Given the description of an element on the screen output the (x, y) to click on. 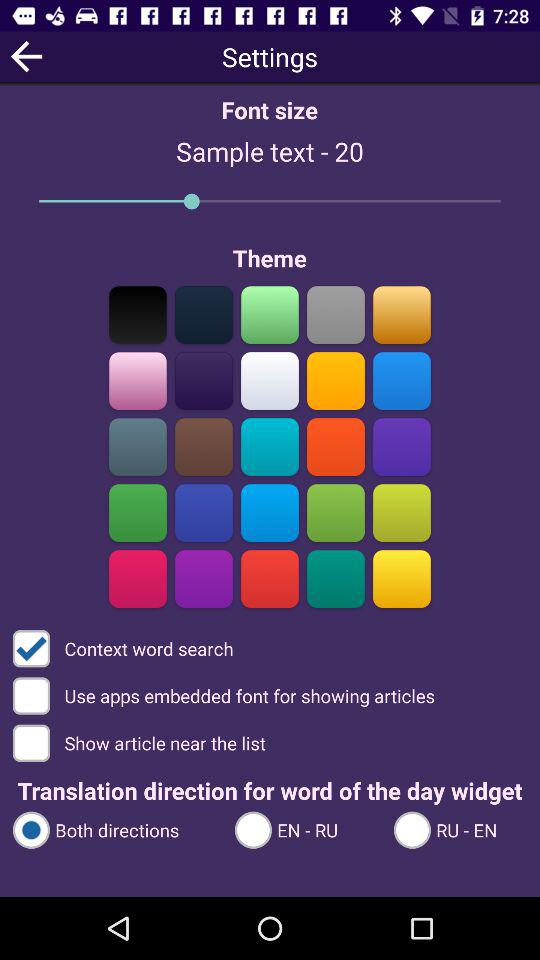
theme color option (401, 446)
